Given the description of an element on the screen output the (x, y) to click on. 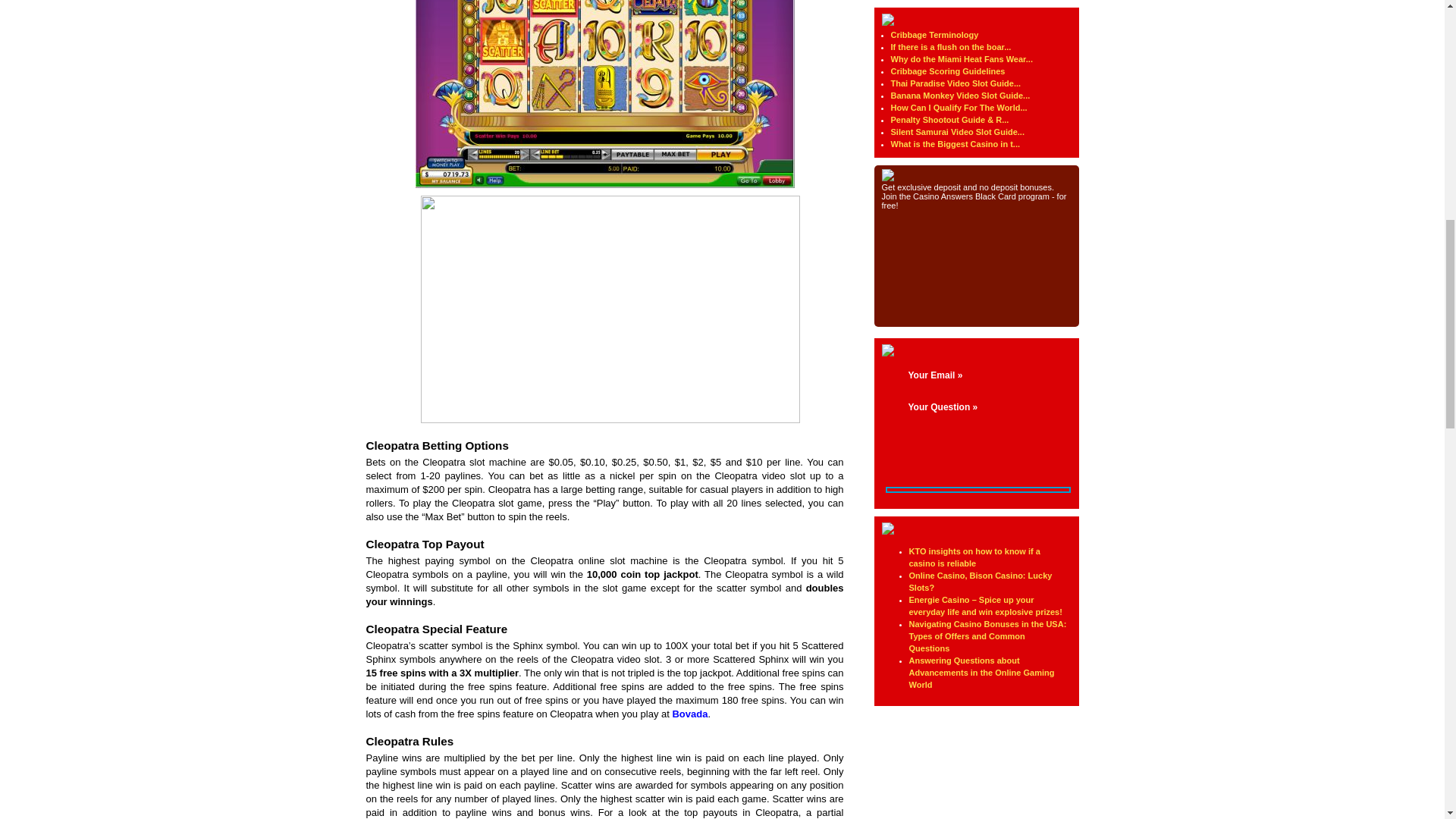
What is the Biggest Casino in the World? (954, 143)
Online Casino, Bison Casino: Lucky Slots? (979, 581)
KTO insights on how to know if a casino is reliable (973, 557)
cleopatra-randomlogic-video-slot-01 (604, 94)
Send (951, 442)
How Can I Qualify For The World Series of Poker Main Event? (957, 107)
If there is a flush on the board, what happens to the pot? (949, 46)
